Given the description of an element on the screen output the (x, y) to click on. 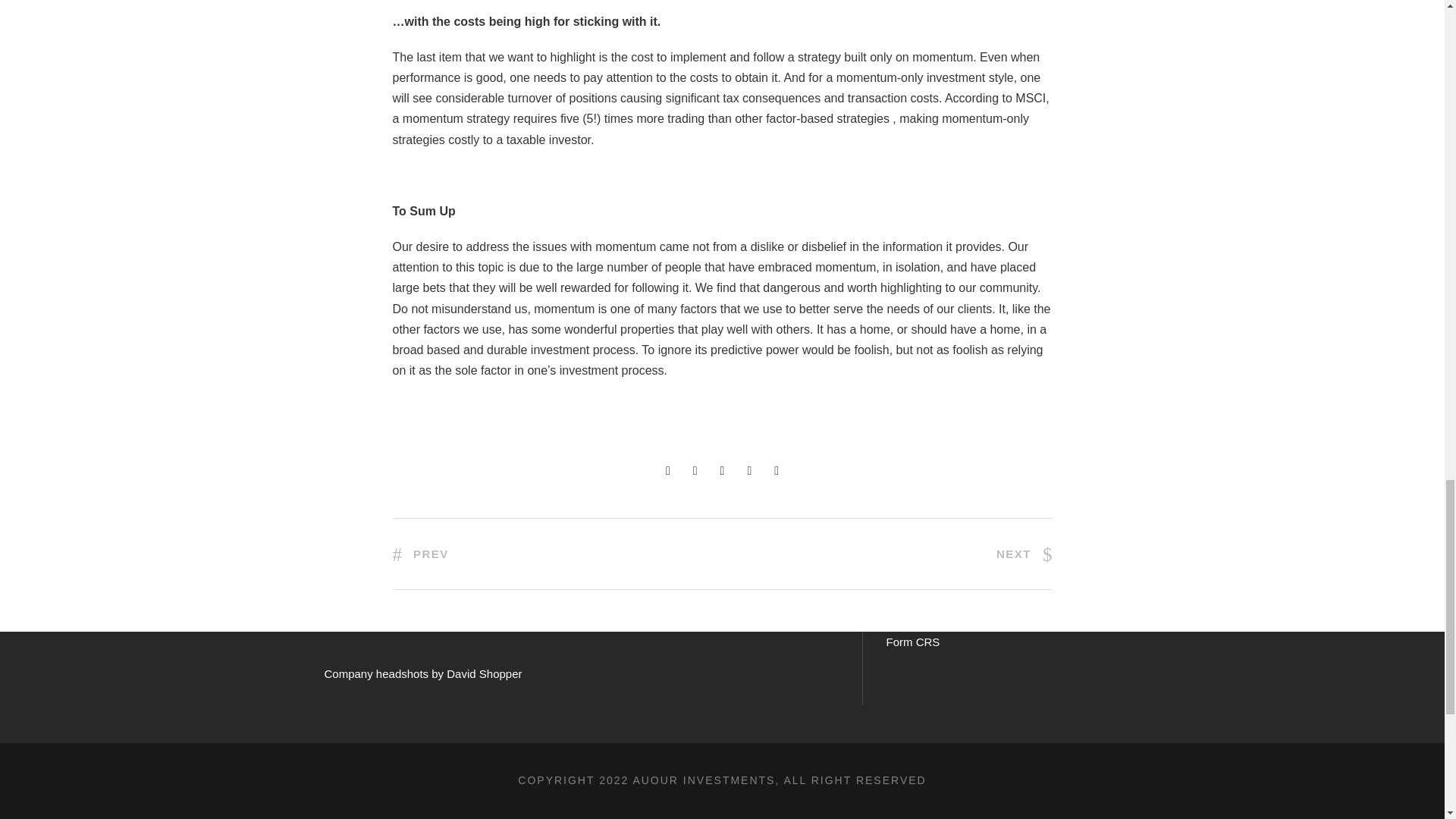
PREV (420, 553)
NEXT (1023, 553)
